Given the description of an element on the screen output the (x, y) to click on. 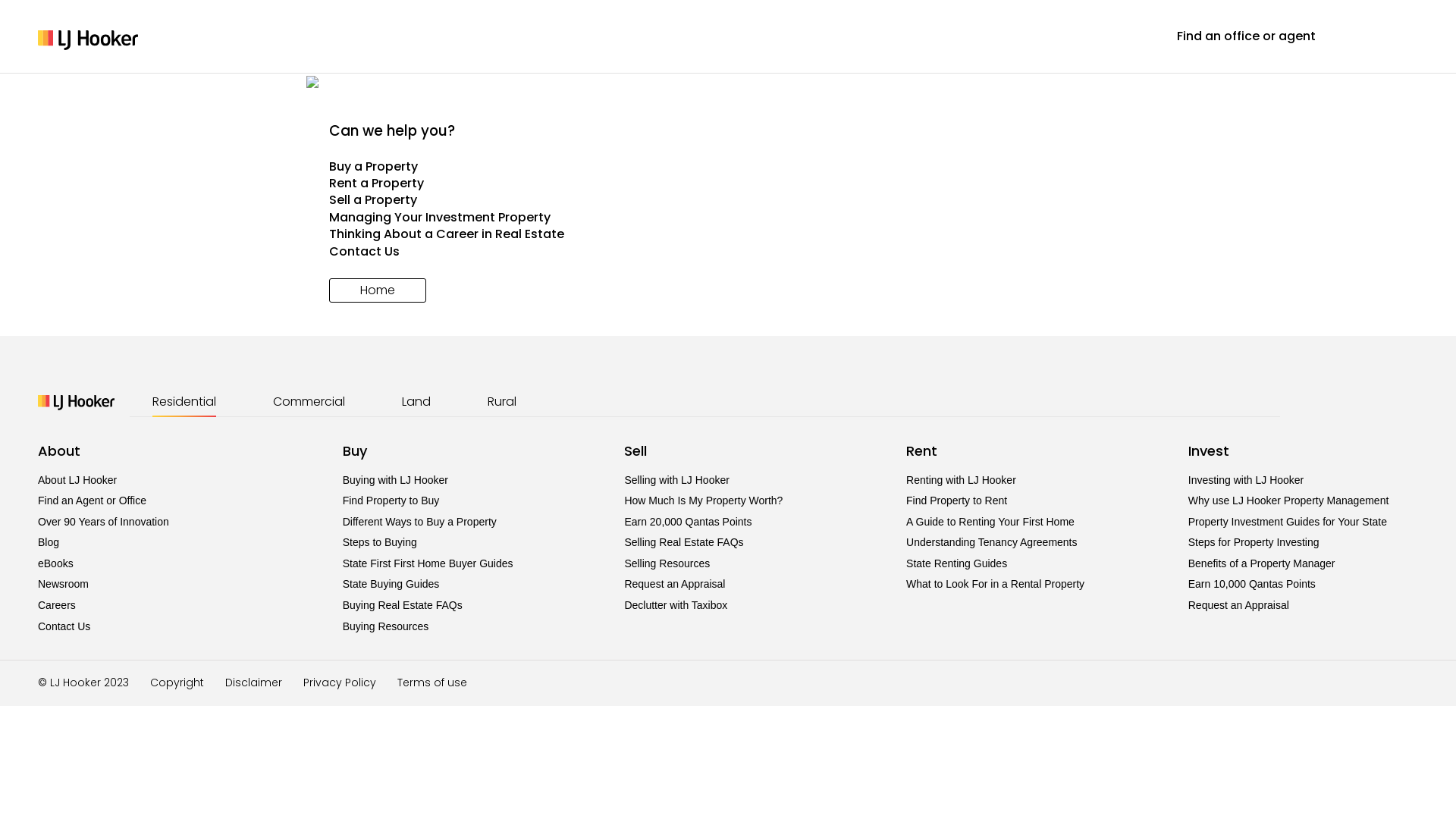
Sell Element type: text (635, 450)
Selling Resources Element type: text (666, 563)
Disclaimer Element type: text (253, 682)
What to Look For in a Rental Property Element type: text (995, 583)
Rent Element type: text (921, 450)
Rent a Property Element type: text (727, 183)
Selling Real Estate FAQs Element type: text (683, 542)
Thinking About a Career in Real Estate Element type: text (727, 233)
Commercial Element type: text (309, 401)
State Buying Guides Element type: text (390, 583)
eBooks Element type: text (55, 563)
Investing with LJ Hooker Element type: text (1246, 479)
About LJ Hooker Element type: text (76, 479)
Buying Real Estate FAQs Element type: text (402, 605)
Declutter with Taxibox Element type: text (675, 605)
Steps to Buying Element type: text (379, 542)
Find Property to Buy Element type: text (390, 500)
Earn 10,000 Qantas Points Element type: text (1251, 583)
Newsroom Element type: text (62, 583)
Land Element type: text (415, 401)
How Much Is My Property Worth? Element type: text (703, 500)
Copyright Element type: text (177, 682)
Property Investment Guides for Your State Element type: text (1287, 521)
Selling with LJ Hooker Element type: text (676, 479)
Invest Element type: text (1208, 450)
State Renting Guides Element type: text (956, 563)
Contact Us Element type: text (63, 626)
Buying Resources Element type: text (385, 626)
Find Property to Rent Element type: text (956, 500)
Buy Element type: text (354, 450)
Why use LJ Hooker Property Management Element type: text (1288, 500)
Over 90 Years of Innovation Element type: text (103, 521)
Request an Appraisal Element type: text (674, 583)
Careers Element type: text (56, 605)
Terms of use Element type: text (432, 682)
Understanding Tenancy Agreements Element type: text (991, 542)
Home Element type: text (377, 290)
Sell a Property Element type: text (727, 199)
Benefits of a Property Manager Element type: text (1261, 563)
A Guide to Renting Your First Home Element type: text (990, 521)
Privacy Policy Element type: text (339, 682)
Find an Agent or Office Element type: text (91, 500)
Buying with LJ Hooker Element type: text (395, 479)
Different Ways to Buy a Property Element type: text (419, 521)
Earn 20,000 Qantas Points Element type: text (687, 521)
Residential Element type: text (184, 401)
Contact Us Element type: text (727, 251)
Blog Element type: text (48, 542)
Request an Appraisal Element type: text (1238, 605)
About Element type: text (58, 450)
Steps for Property Investing Element type: text (1253, 542)
Buy a Property Element type: text (727, 166)
Renting with LJ Hooker Element type: text (961, 479)
Find an office or agent Element type: text (1245, 36)
Managing Your Investment Property Element type: text (727, 217)
State First First Home Buyer Guides Element type: text (427, 563)
Rural Element type: text (501, 401)
